Given the description of an element on the screen output the (x, y) to click on. 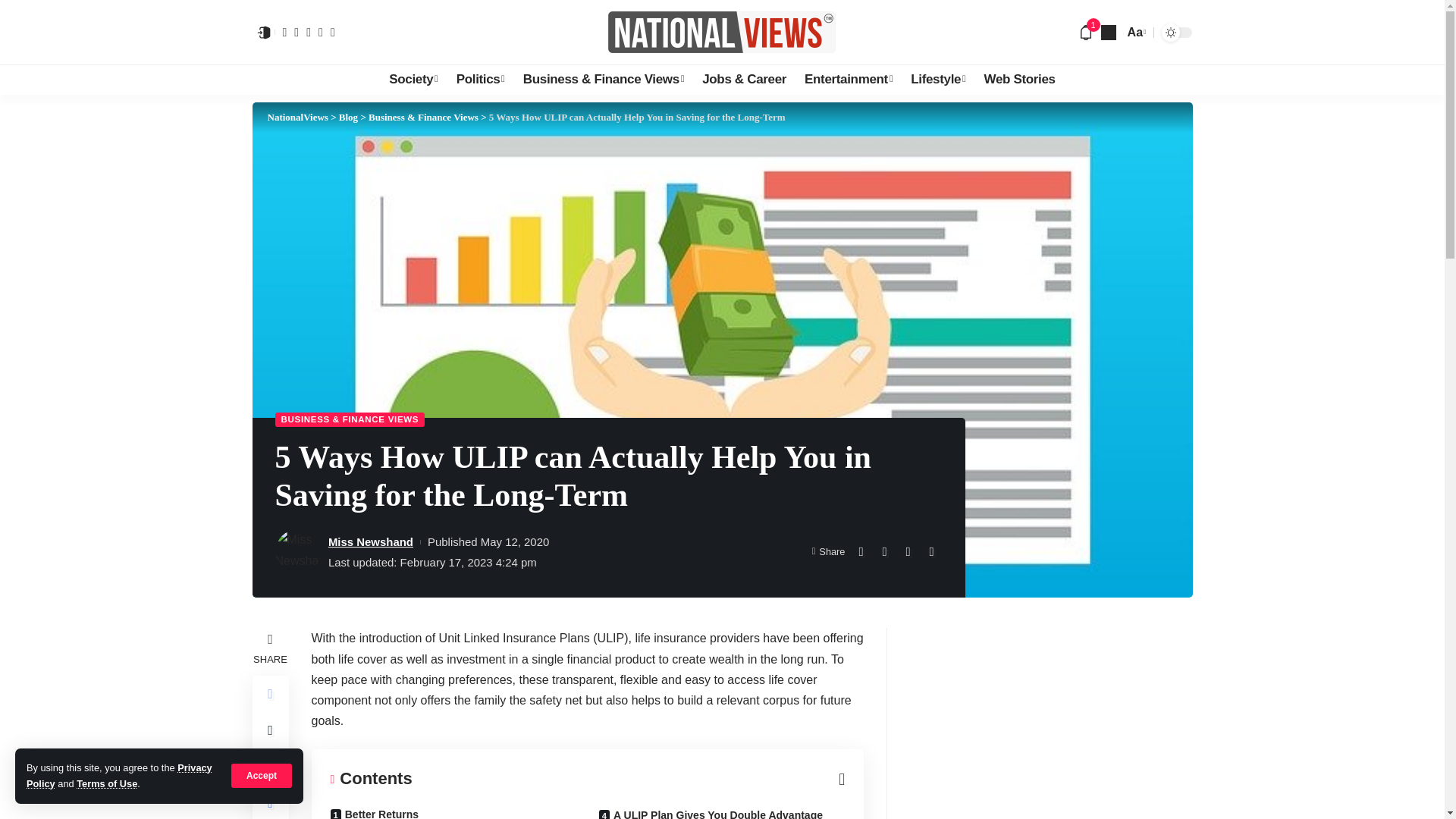
Go to Blog. (348, 116)
1 (1085, 31)
Society (413, 79)
Go to NationalViews. (296, 116)
Accept (261, 775)
NationalViews (721, 32)
Privacy Policy (119, 775)
Terms of Use (106, 783)
Aa (1135, 32)
Politics (479, 79)
Entertainment (847, 79)
Lifestyle (937, 79)
